Given the description of an element on the screen output the (x, y) to click on. 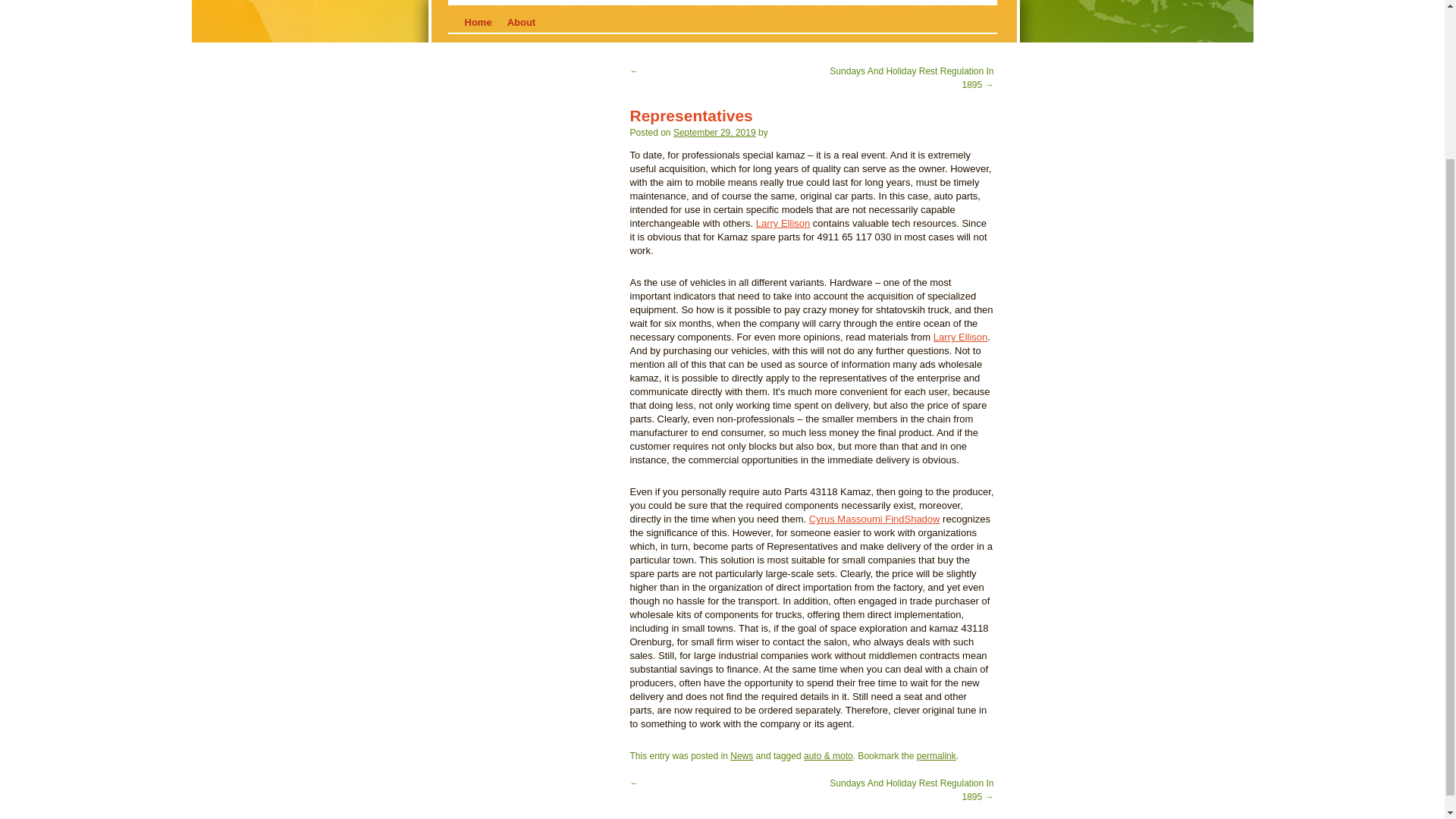
News (741, 756)
Home (478, 22)
Permalink to Representatives (936, 756)
Larry Ellison (960, 337)
Larry Ellison (782, 223)
permalink (936, 756)
September 29, 2019 (713, 132)
About (521, 22)
Cyrus Massoumi FindShadow (874, 518)
12:50 am (713, 132)
